Given the description of an element on the screen output the (x, y) to click on. 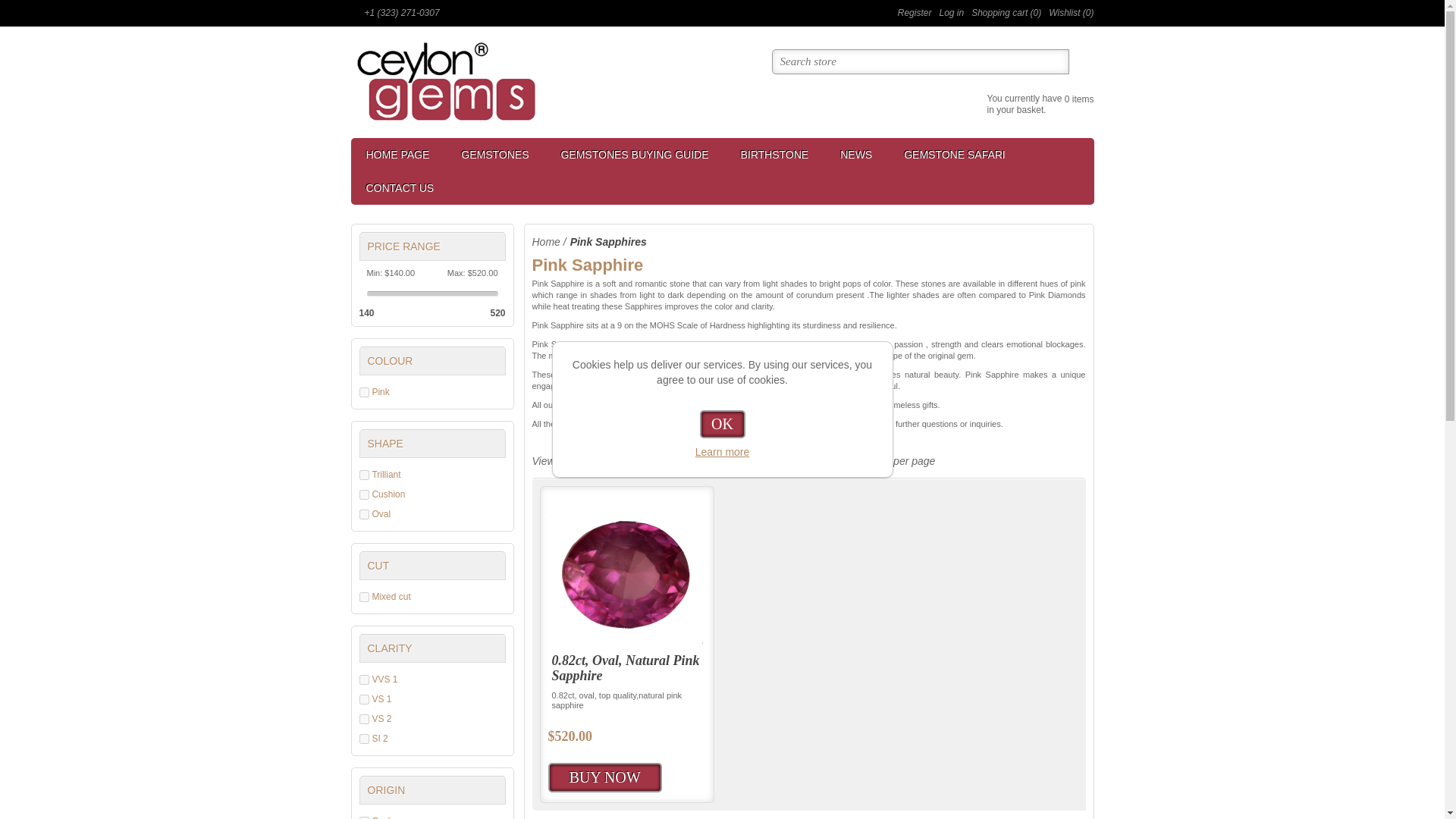
Search (1081, 61)
on (364, 699)
Buy Now (604, 777)
Ceylon Gems Inc (445, 80)
on (364, 679)
GEMSTONES BUYING GUIDE (633, 154)
on (364, 494)
on (364, 514)
BIRTHSTONE (774, 154)
Register (914, 12)
GEMSTONE SAFARI (954, 154)
CONTACT US (399, 187)
Search (1081, 61)
Search (1081, 61)
on (364, 474)
